Given the description of an element on the screen output the (x, y) to click on. 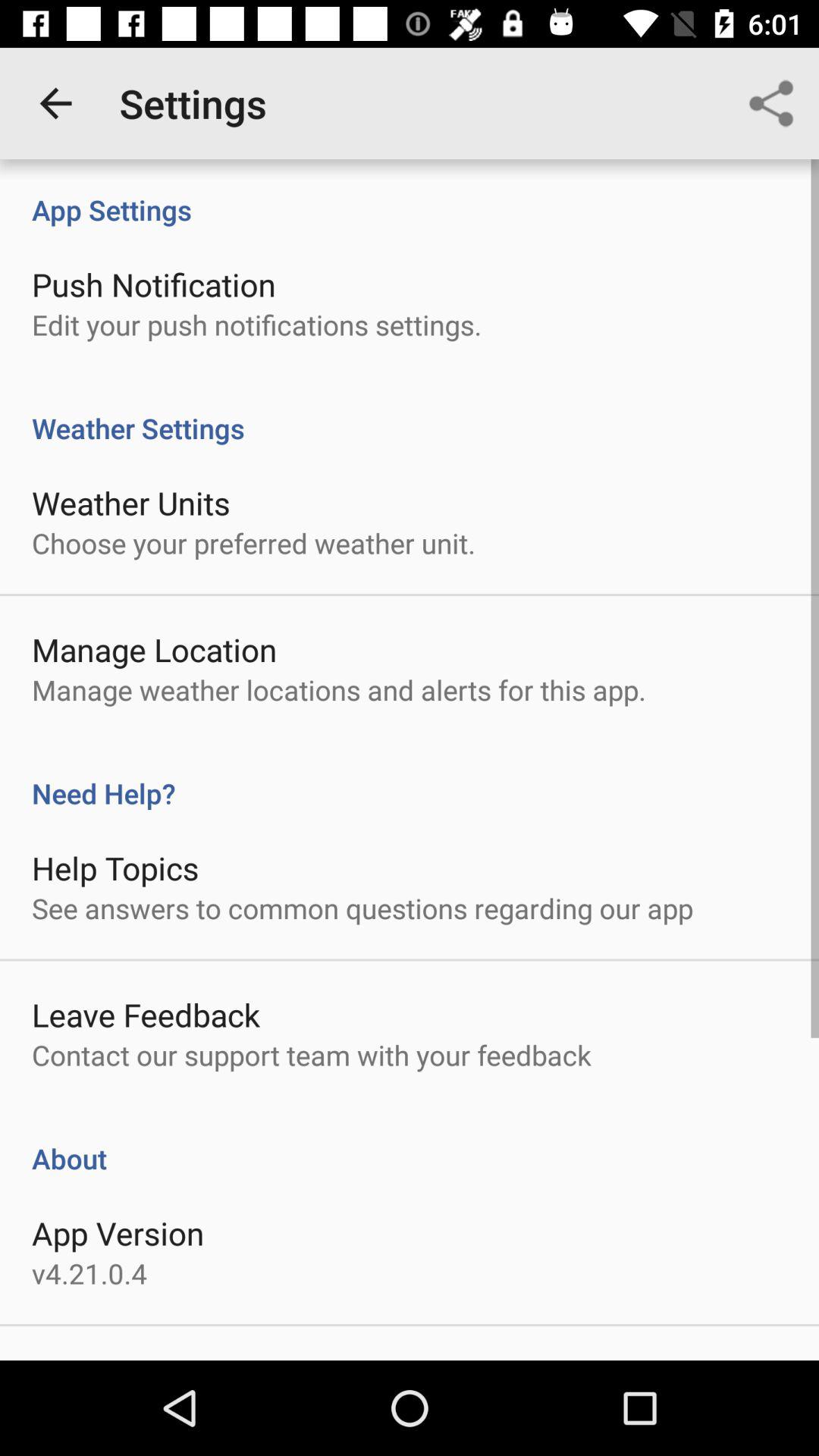
click item below the about item (117, 1232)
